Given the description of an element on the screen output the (x, y) to click on. 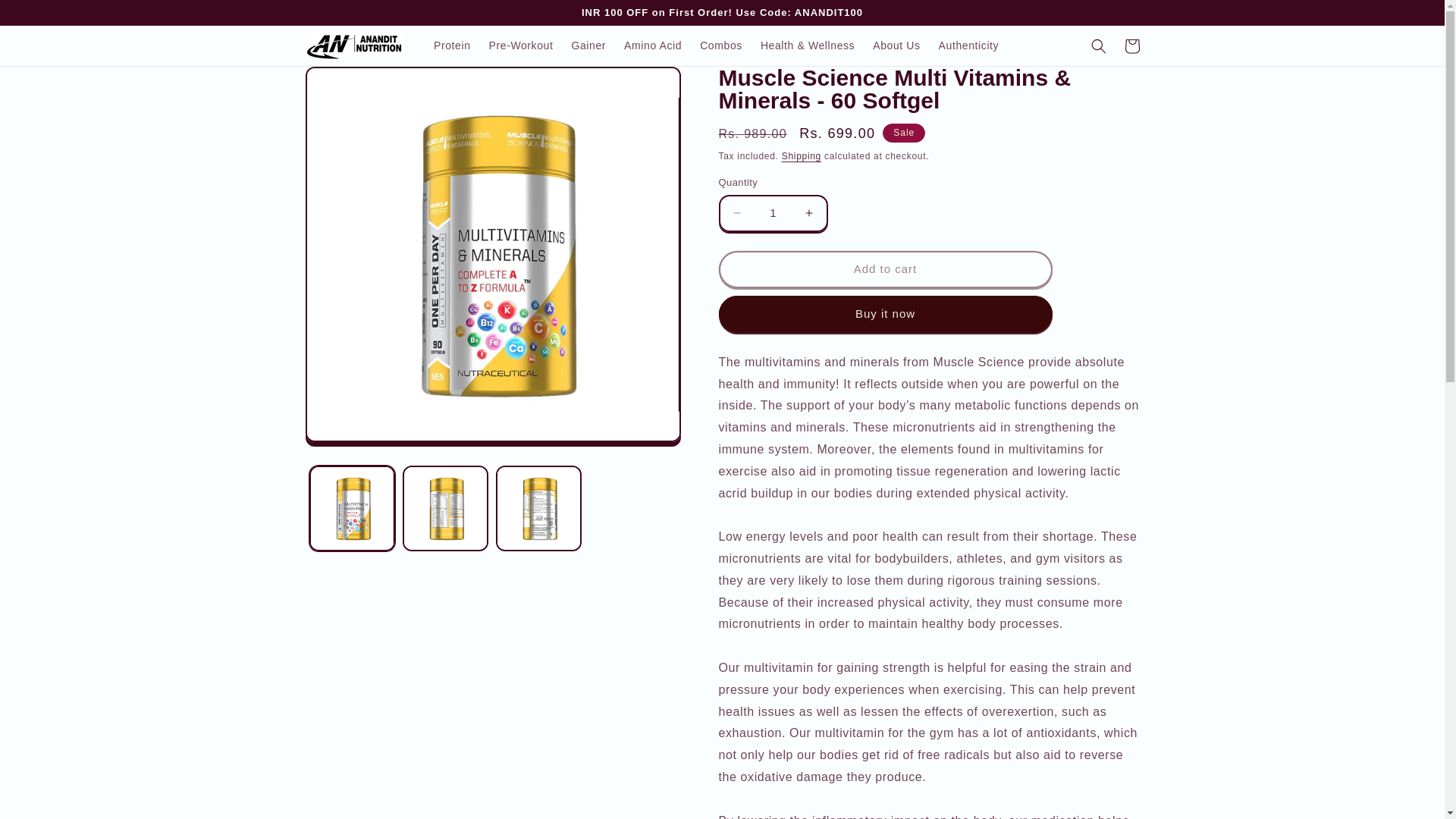
Gainer (588, 45)
Cart (1131, 45)
1 (773, 212)
Combos (720, 45)
Amino Acid (652, 45)
Protein (452, 45)
About Us (895, 45)
Pre-Workout (521, 45)
Skip to product information (351, 84)
Skip to content (46, 18)
Authenticity (969, 45)
